Given the description of an element on the screen output the (x, y) to click on. 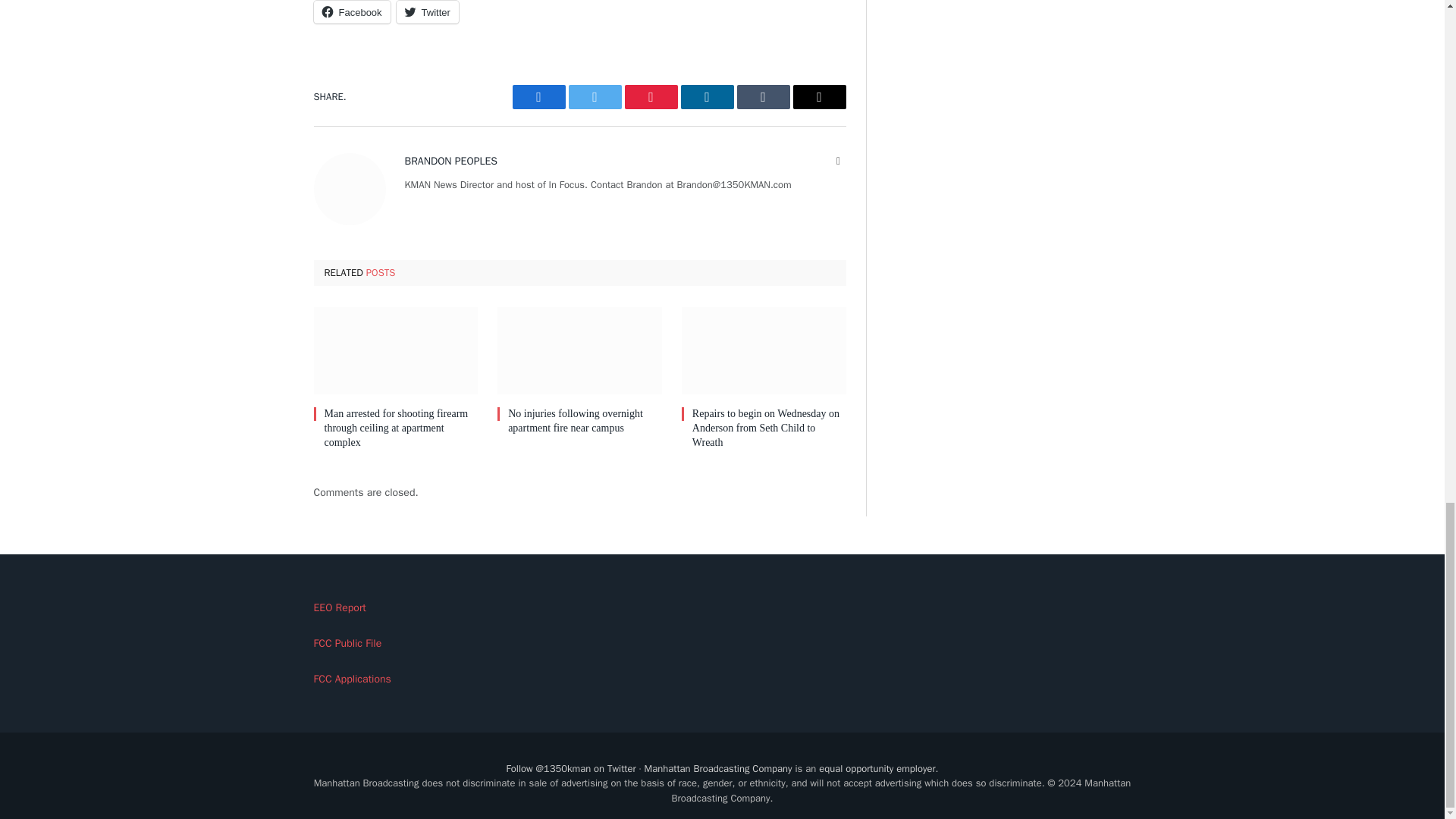
Share on Facebook (539, 96)
Share on Tumblr (763, 96)
Share on LinkedIn (707, 96)
Click to share on Twitter (427, 11)
Share on Pinterest (651, 96)
Click to share on Facebook (352, 11)
